Given the description of an element on the screen output the (x, y) to click on. 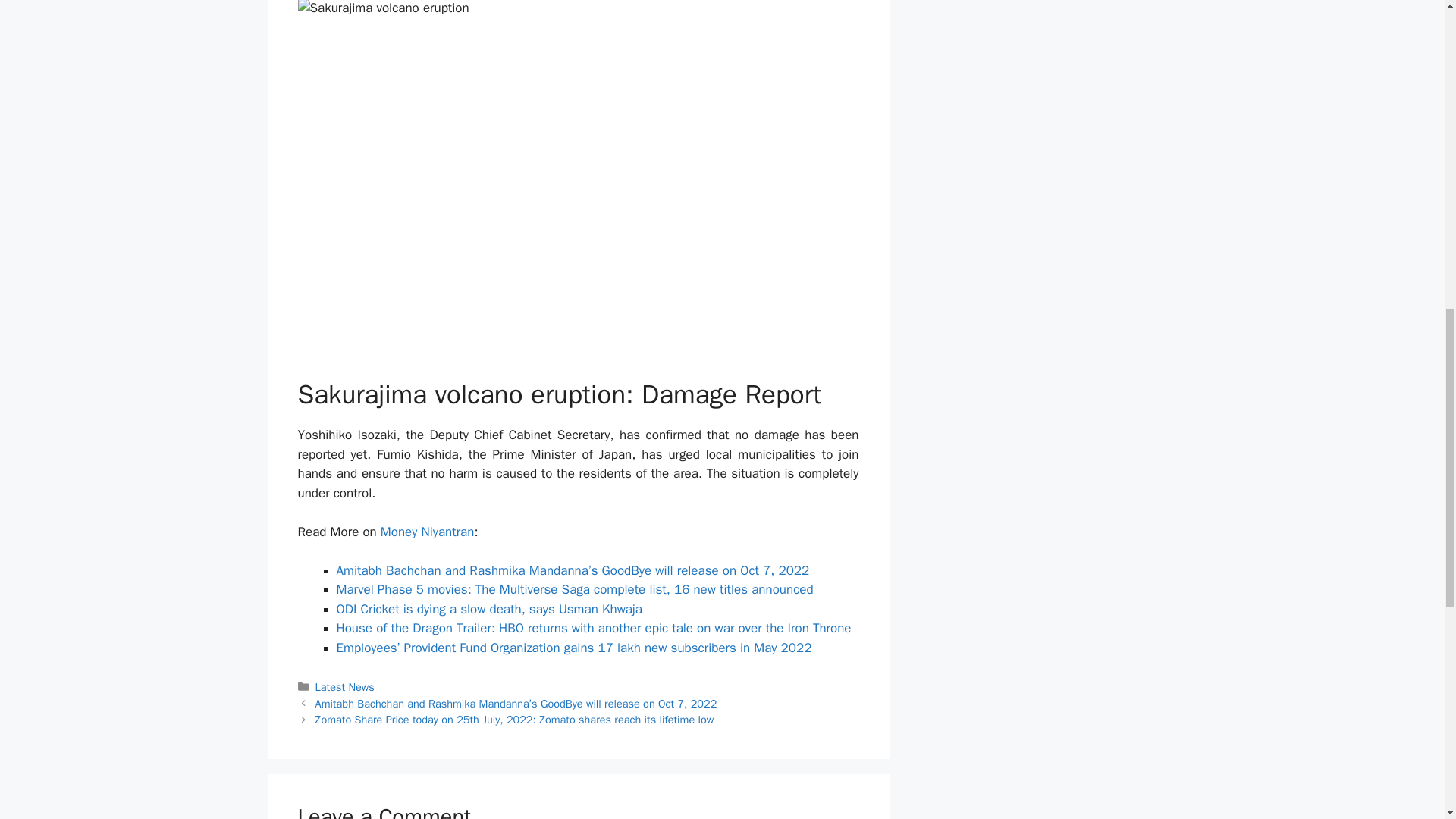
Latest News (344, 686)
Scroll back to top (1406, 720)
Money Niyantran (427, 531)
ODI Cricket is dying a slow death, says Usman Khwaja (489, 609)
